Given the description of an element on the screen output the (x, y) to click on. 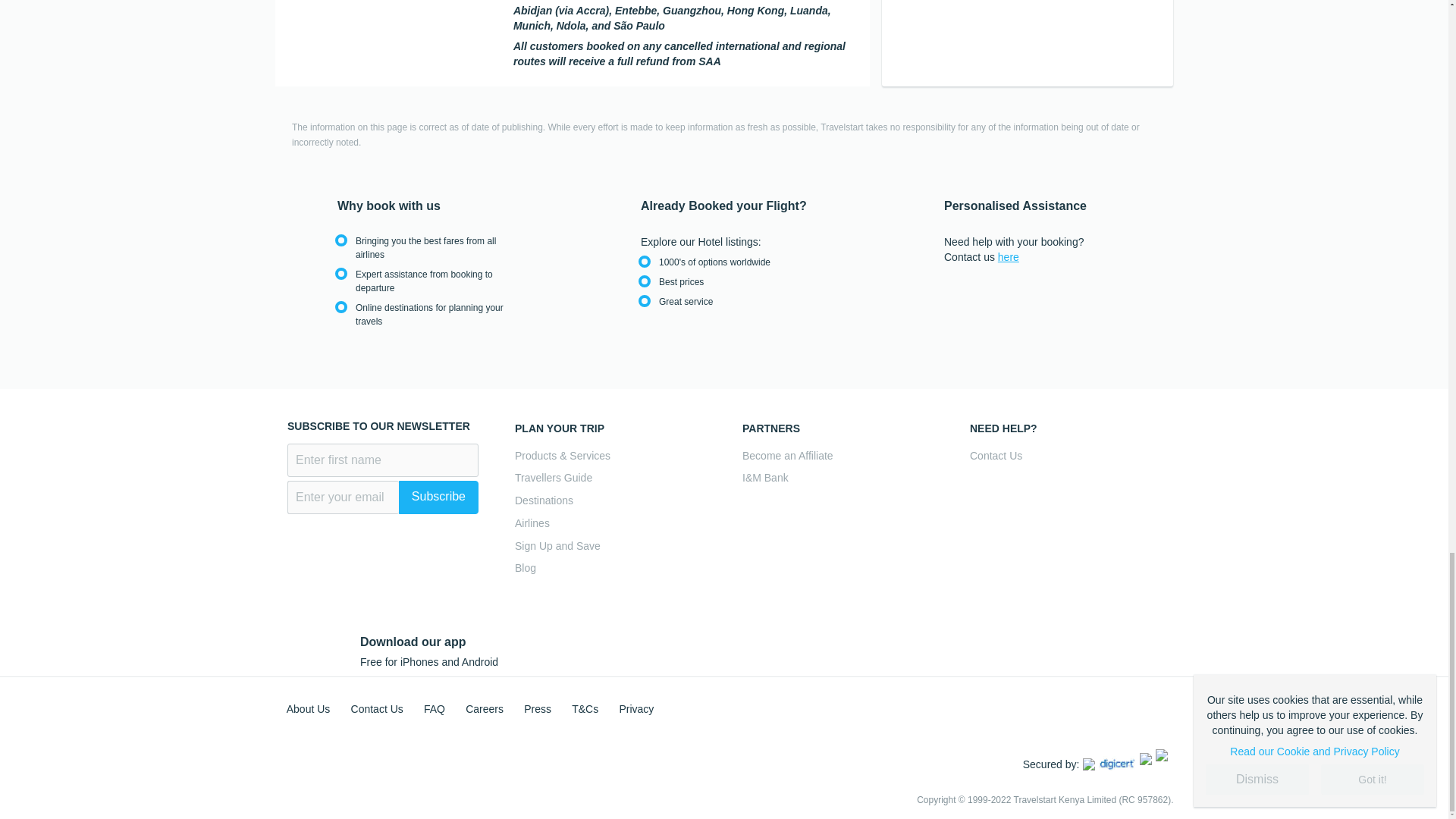
Destinations (610, 500)
Careers (484, 709)
Subscribe (438, 497)
here (1008, 256)
Twitter (1062, 703)
Contact Us (1064, 455)
Travellers Guide (610, 478)
Become an Affiliate (837, 455)
Sign Up and Save (610, 546)
Privacy (635, 709)
Blog (610, 568)
Facebook (1029, 703)
Airlines (610, 523)
Contact Us (376, 709)
Subscribe (438, 497)
